Given the description of an element on the screen output the (x, y) to click on. 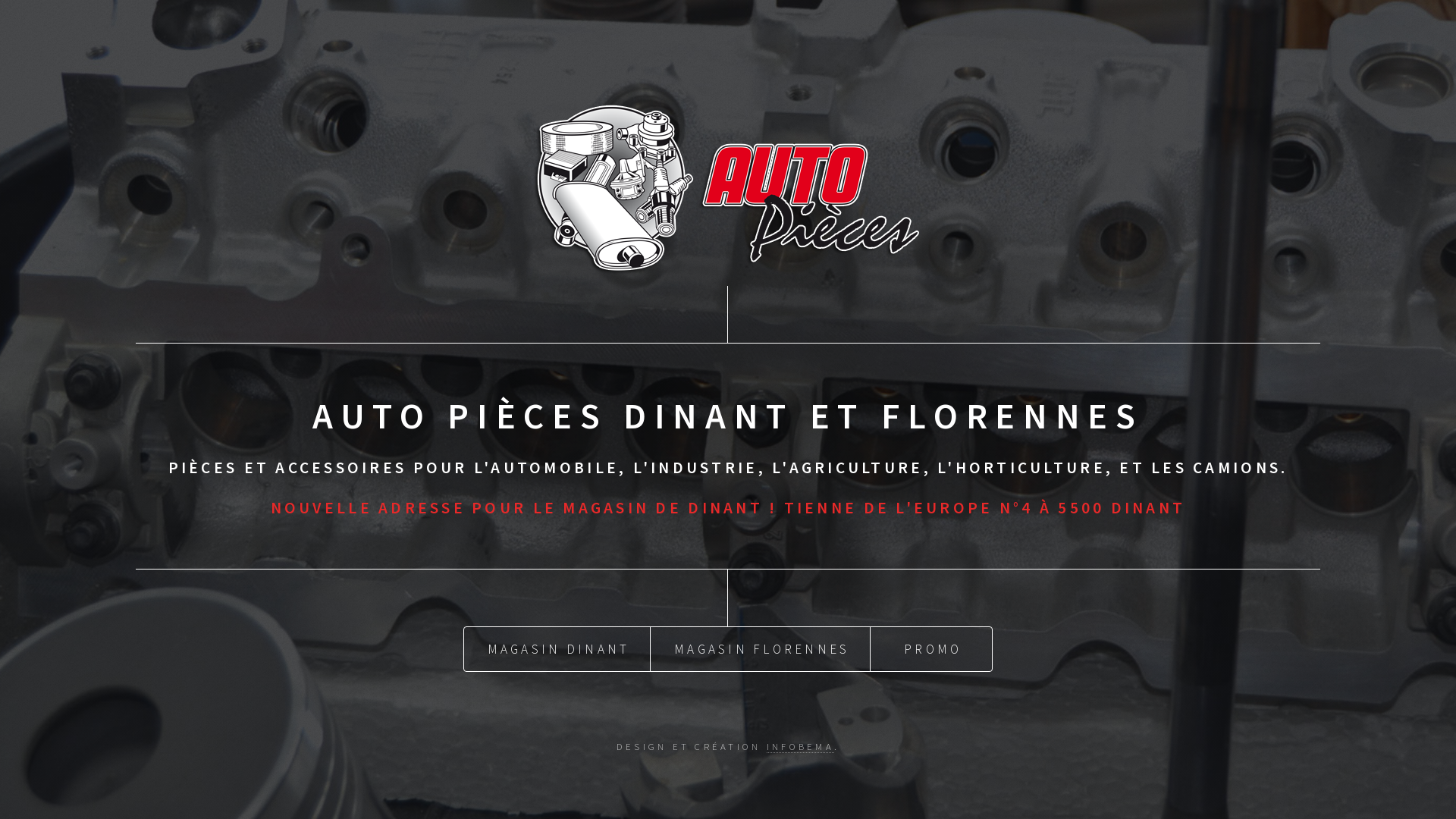
MAGASIN FLORENNES Element type: text (759, 649)
INFOBEMA Element type: text (800, 746)
MAGASIN DINANT Element type: text (556, 649)
PROMO Element type: text (930, 649)
